Given the description of an element on the screen output the (x, y) to click on. 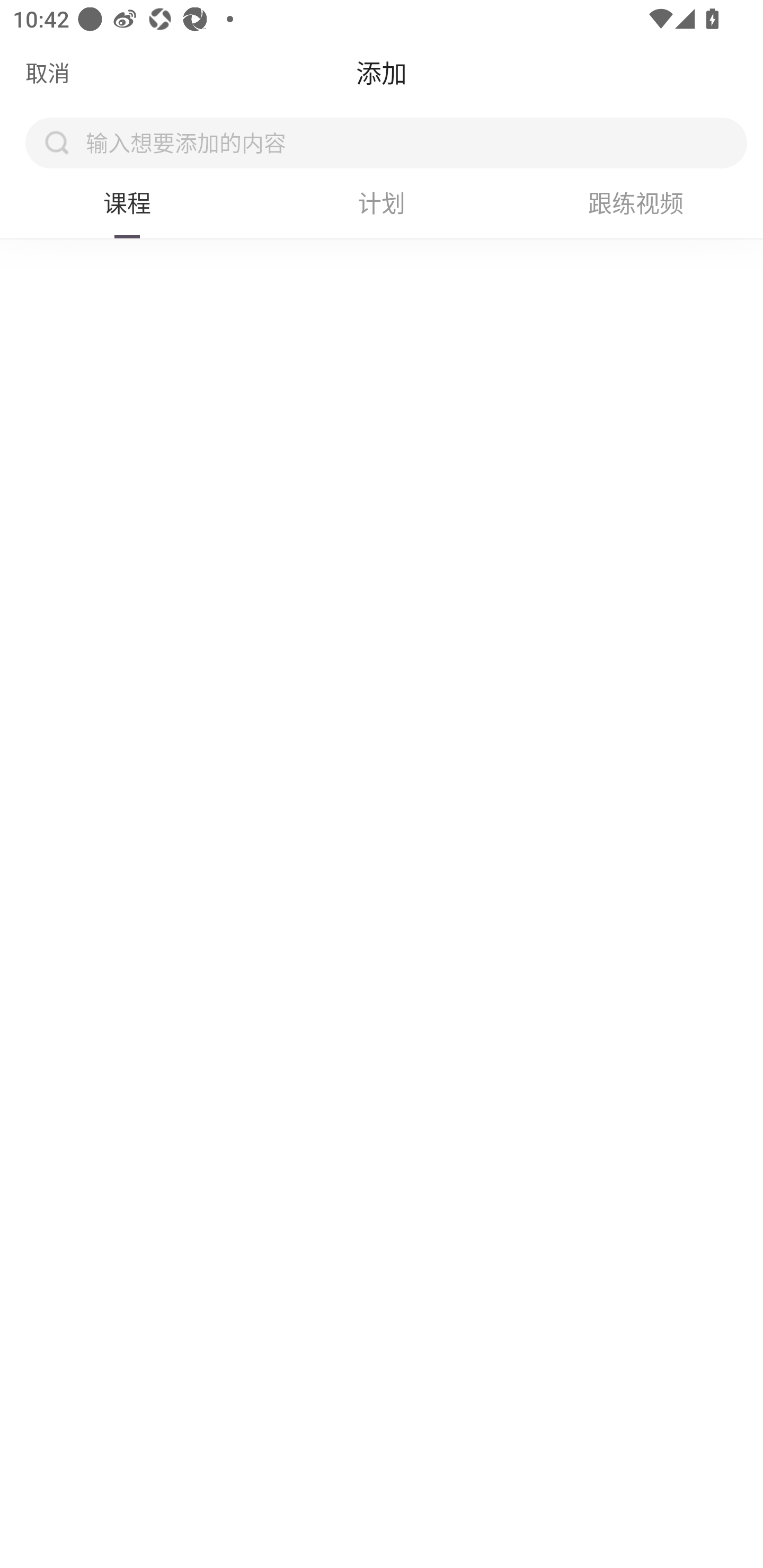
取消 (47, 72)
输入想要添加的内容 EditSearch (412, 142)
课程 (127, 202)
计划 (381, 202)
跟练视频 (635, 202)
